Given the description of an element on the screen output the (x, y) to click on. 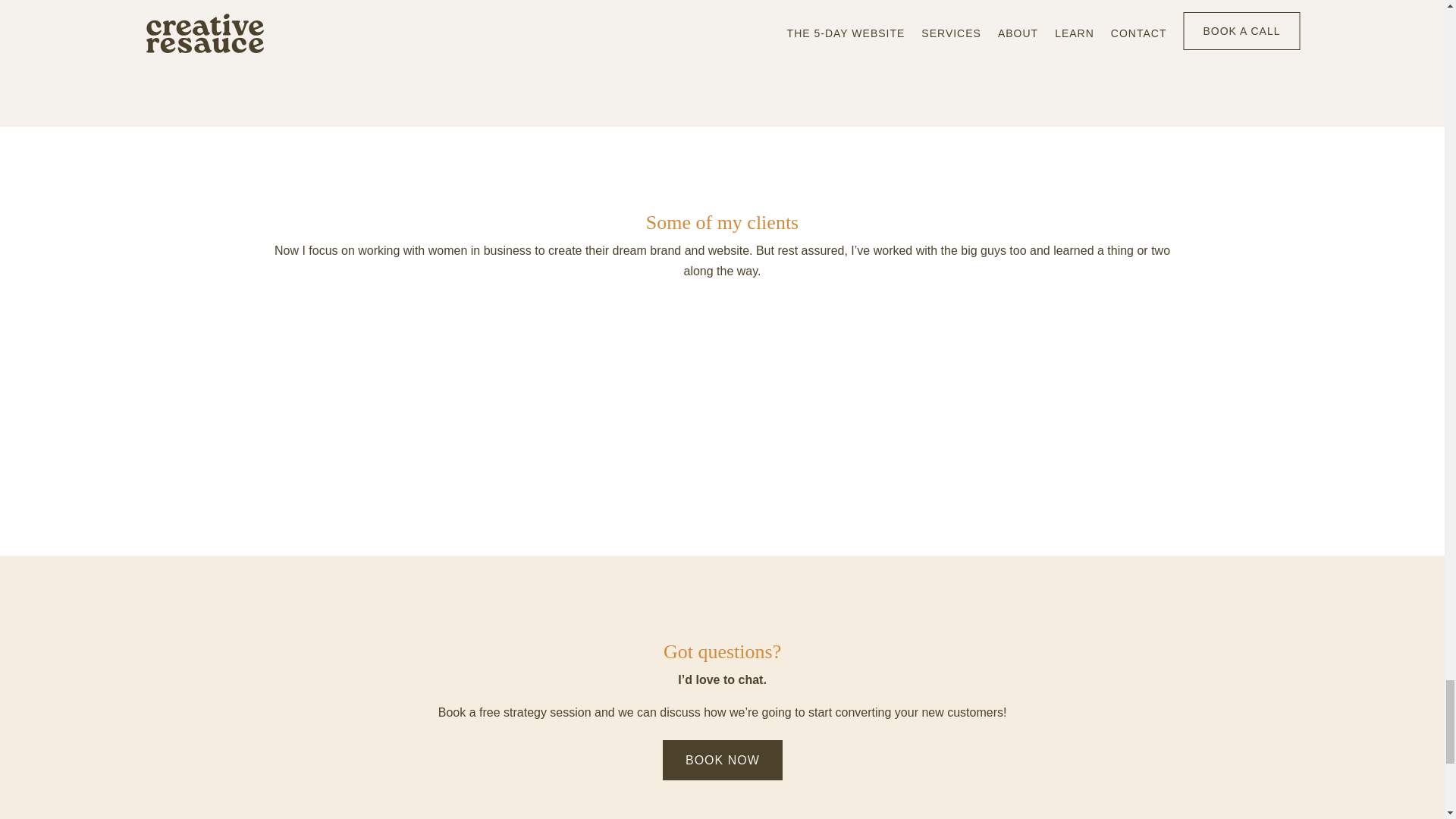
cr-client-sydney-royal (424, 403)
cr-client-investec (1019, 403)
cr-client-foodbank (225, 403)
cr-client-easter-show (820, 403)
cr-client-ras (1218, 403)
cr-client-qbe (622, 403)
